Given the description of an element on the screen output the (x, y) to click on. 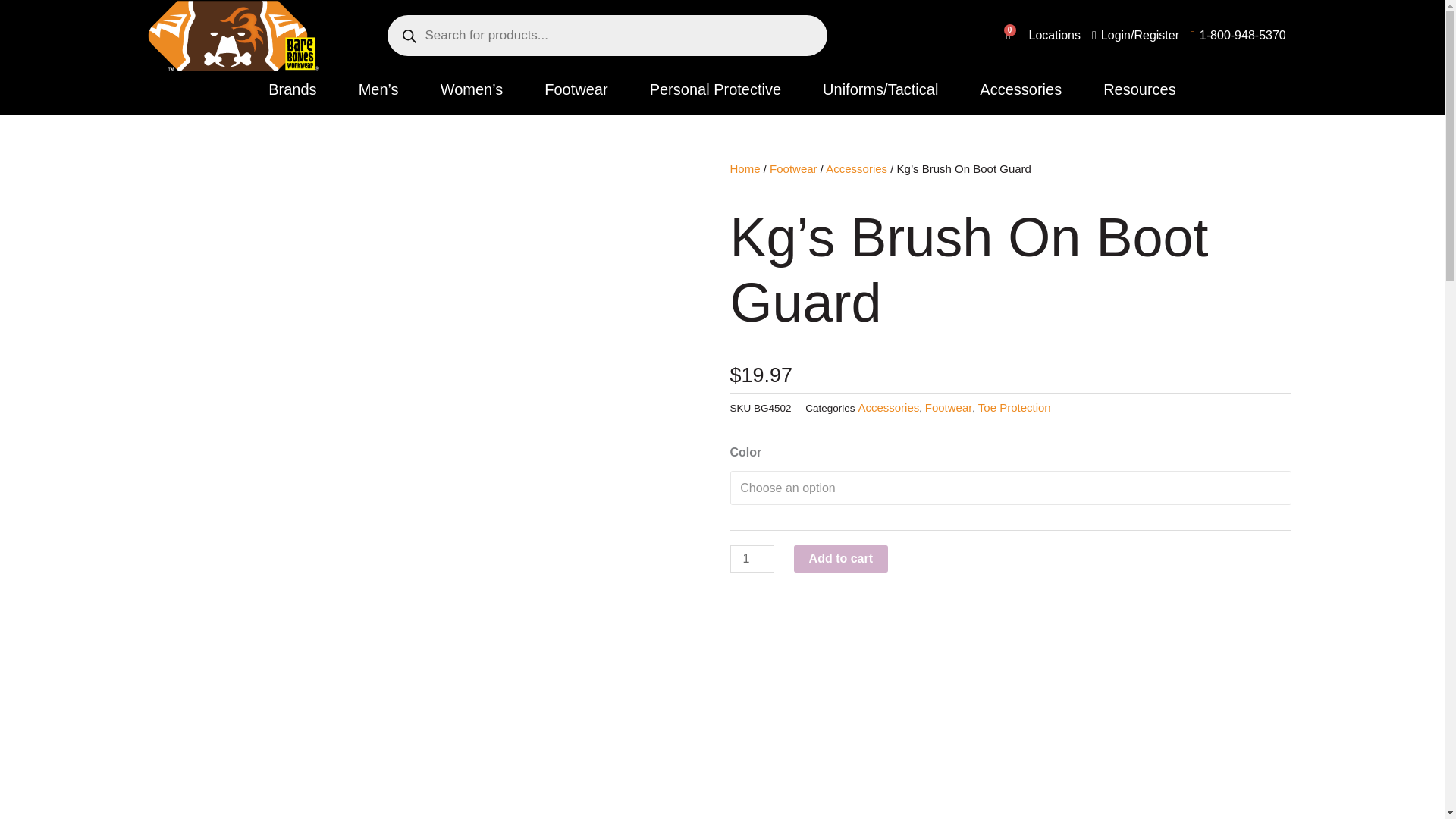
1 (1007, 35)
Locations (751, 558)
1-800-948-5370 (1053, 35)
Brands (1238, 35)
